Given the description of an element on the screen output the (x, y) to click on. 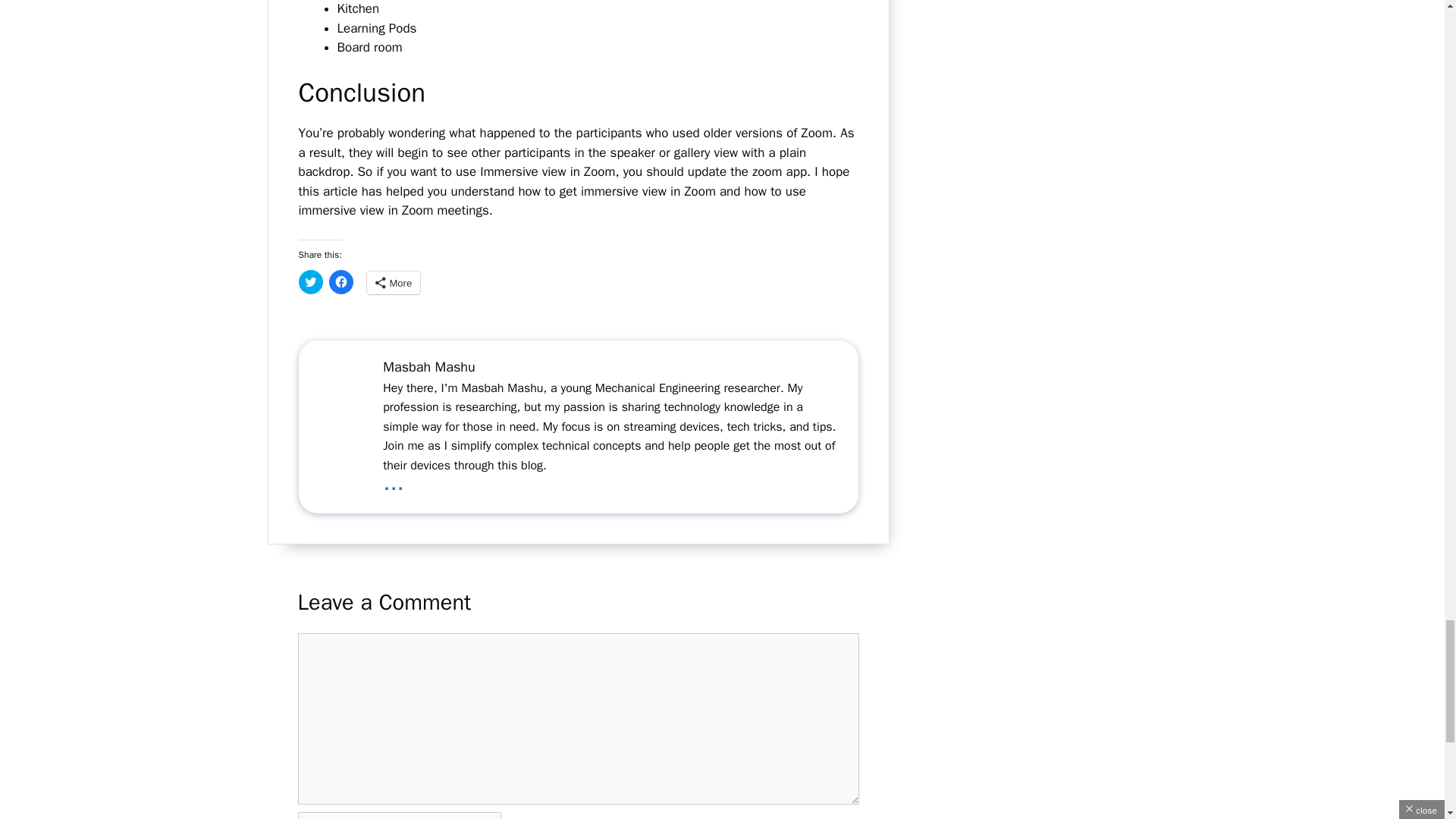
More (393, 282)
... (393, 482)
Click to share on Facebook (341, 282)
Read more post by this author (393, 482)
Click to share on Twitter (310, 282)
